Given the description of an element on the screen output the (x, y) to click on. 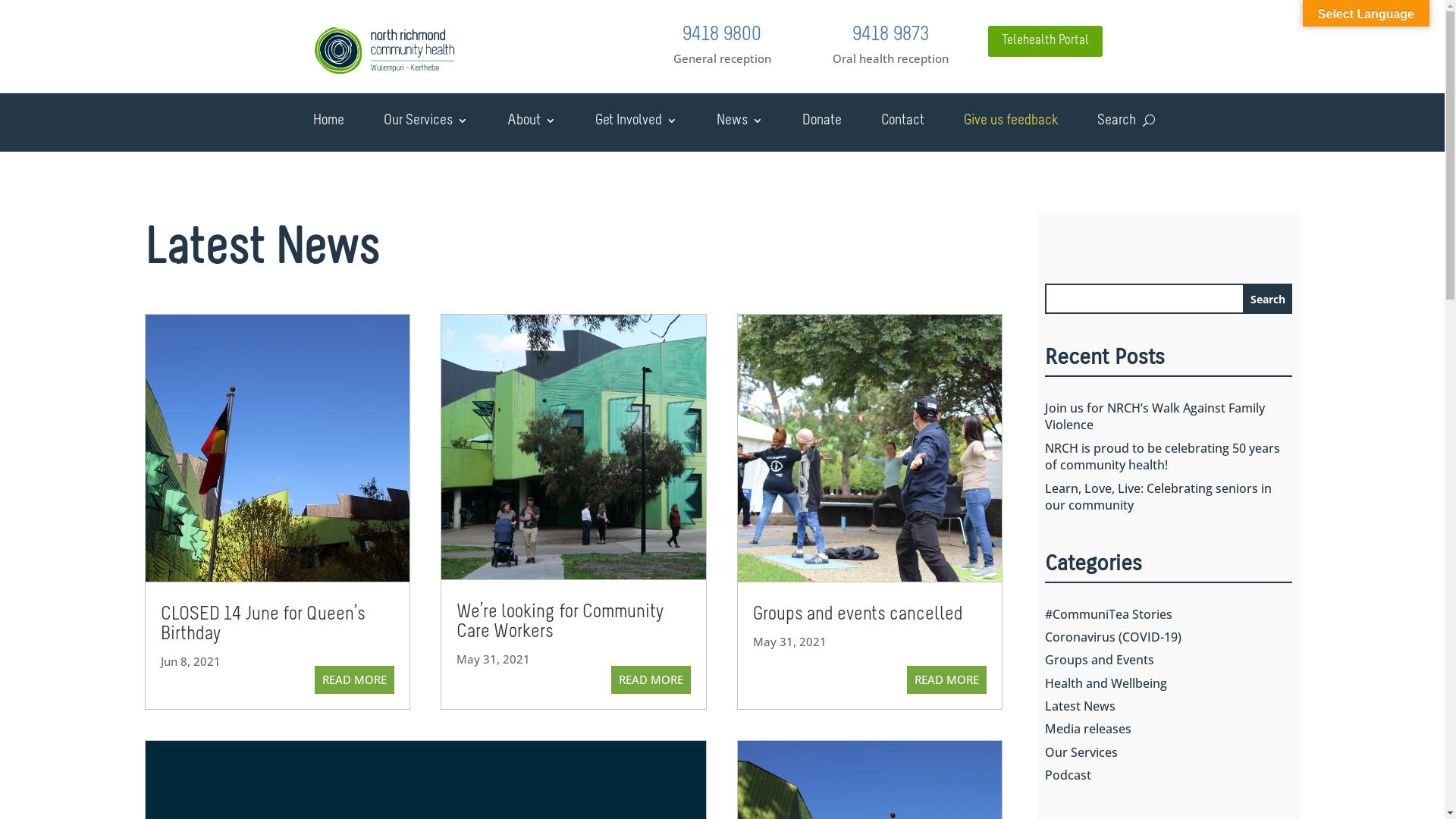
READ MORE Element type: text (946, 679)
READ MORE Element type: text (650, 679)
9418 9873 Element type: text (890, 35)
Podcast Element type: text (1067, 774)
Home Element type: text (316, 123)
Learn, Love, Live: Celebrating seniors in our community Element type: text (1157, 496)
Health and Wellbeing Element type: text (1105, 682)
Our Services Element type: text (1080, 751)
#CommuniTea Stories Element type: text (1108, 613)
Contact Element type: text (891, 123)
Our Services Element type: text (413, 123)
Latest News Element type: text (1079, 705)
Telehealth Portal Element type: text (1045, 40)
9418 9800 Element type: text (721, 35)
Search Element type: text (1267, 298)
Give us feedback Element type: text (998, 123)
READ MORE Element type: text (354, 679)
Groups and Events Element type: text (1099, 659)
Media releases Element type: text (1087, 728)
News Element type: text (727, 123)
About Element type: text (519, 123)
Search Element type: text (1113, 123)
Groups and events cancelled Element type: text (858, 614)
Get Involved Element type: text (623, 123)
nrch-logo-300w Element type: hover (384, 50)
Coronavirus (COVID-19) Element type: text (1112, 636)
Donate Element type: text (810, 123)
